Given the description of an element on the screen output the (x, y) to click on. 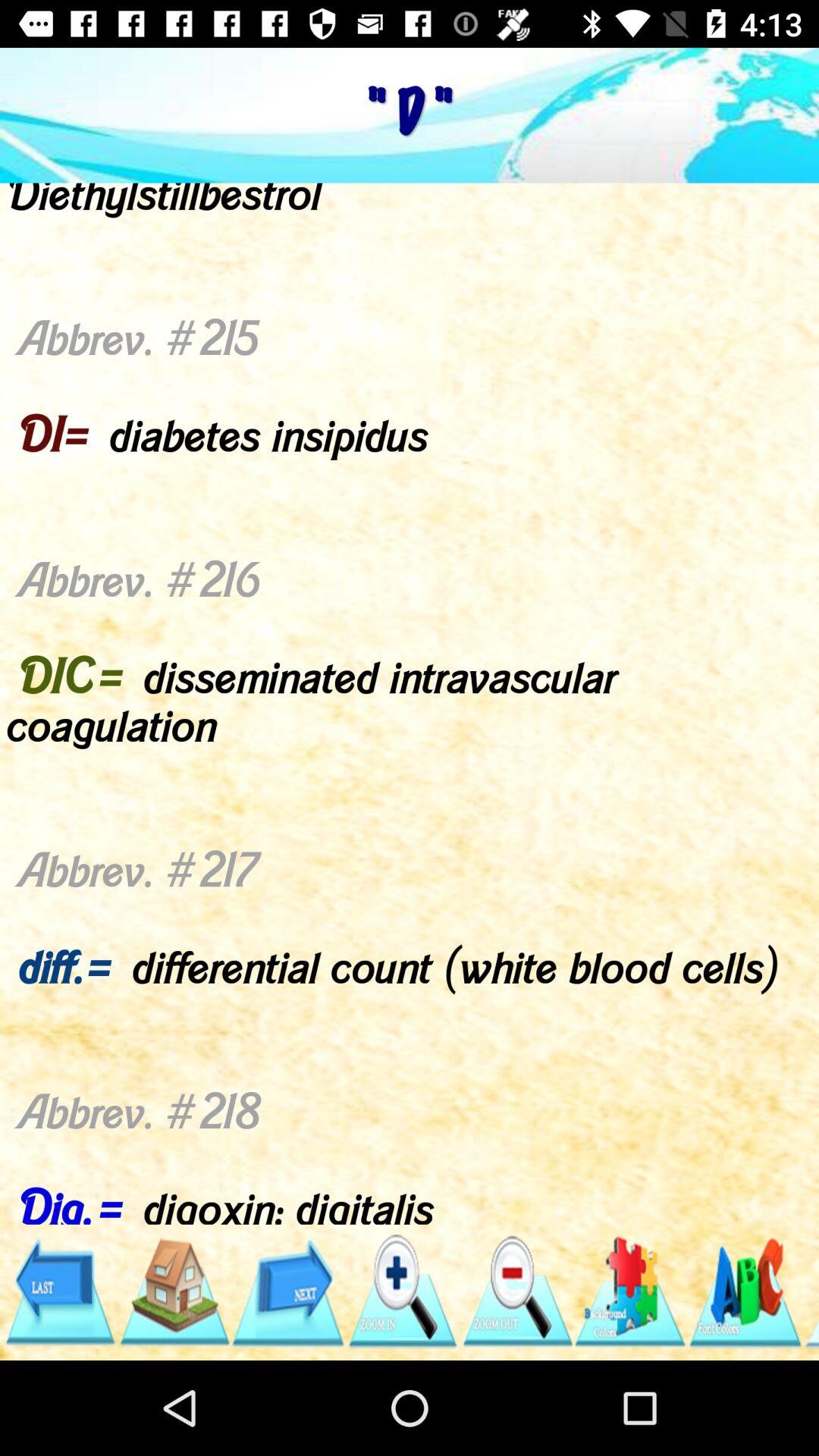
turn on item below abbrev 	209	 	d app (630, 1291)
